Given the description of an element on the screen output the (x, y) to click on. 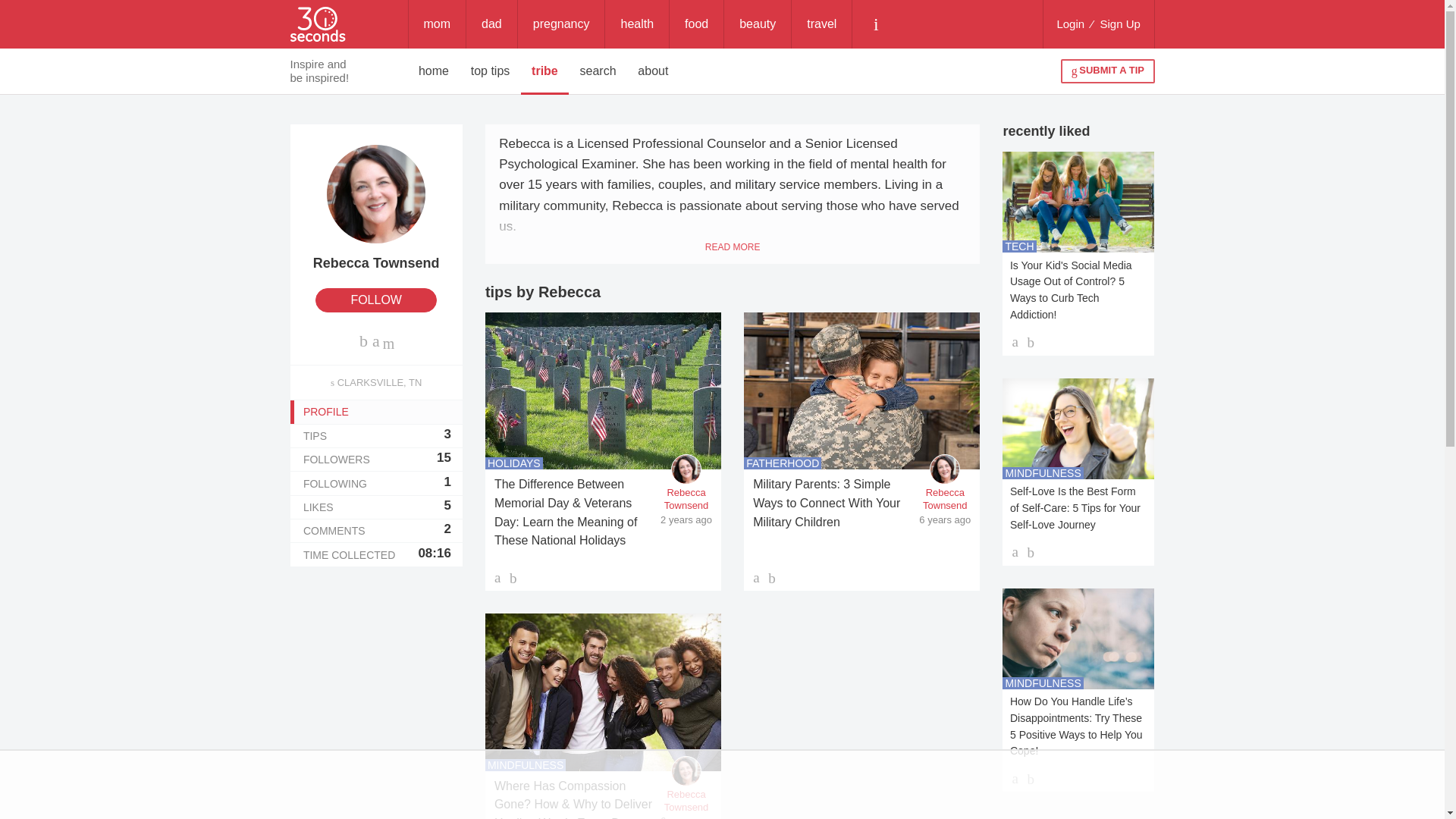
home (433, 71)
travel (821, 24)
SUBMIT A TIP (1107, 70)
mom (436, 24)
about (653, 71)
Rebecca Townsend (376, 207)
Sign Up (1120, 23)
Login (375, 458)
HOLIDAYS (1069, 23)
health (513, 463)
food (636, 24)
top tips (696, 24)
